Given the description of an element on the screen output the (x, y) to click on. 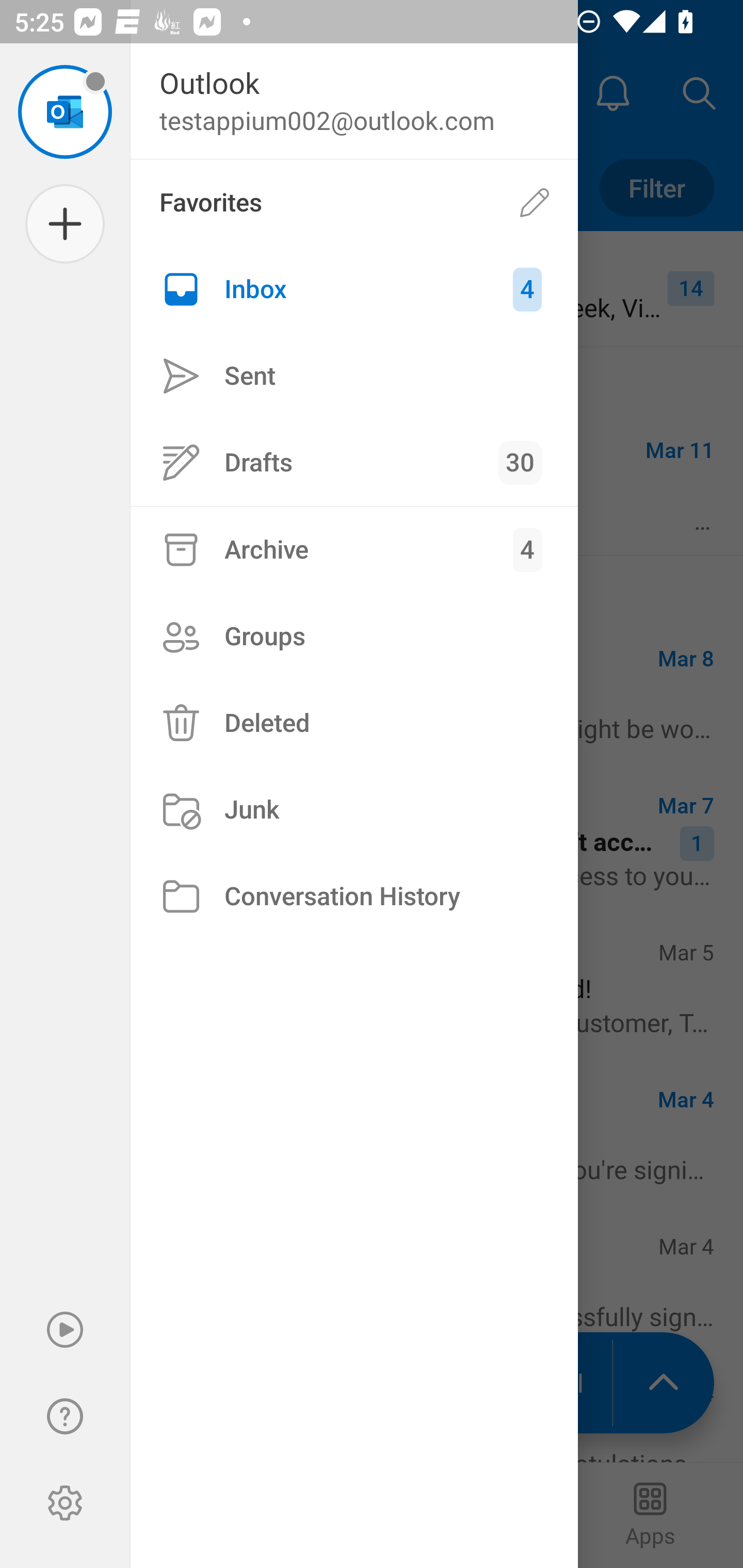
testappium002@outlook.com (64, 111)
Edit favorites (534, 202)
Add account (64, 224)
Inbox Inbox, 4 unread emails,Selected (354, 289)
Sent (354, 375)
Drafts Drafts, 30 unread emails (354, 462)
Archive Archive, 2 of 6, level 1, 4 unread emails (354, 549)
Groups Groups, 3 of 6, level 1 (354, 636)
Deleted Deleted, 4 of 6, level 1 (354, 723)
Junk Junk, 5 of 6, level 1 (354, 809)
Play My Emails (64, 1329)
Help (64, 1416)
Settings (64, 1502)
